Given the description of an element on the screen output the (x, y) to click on. 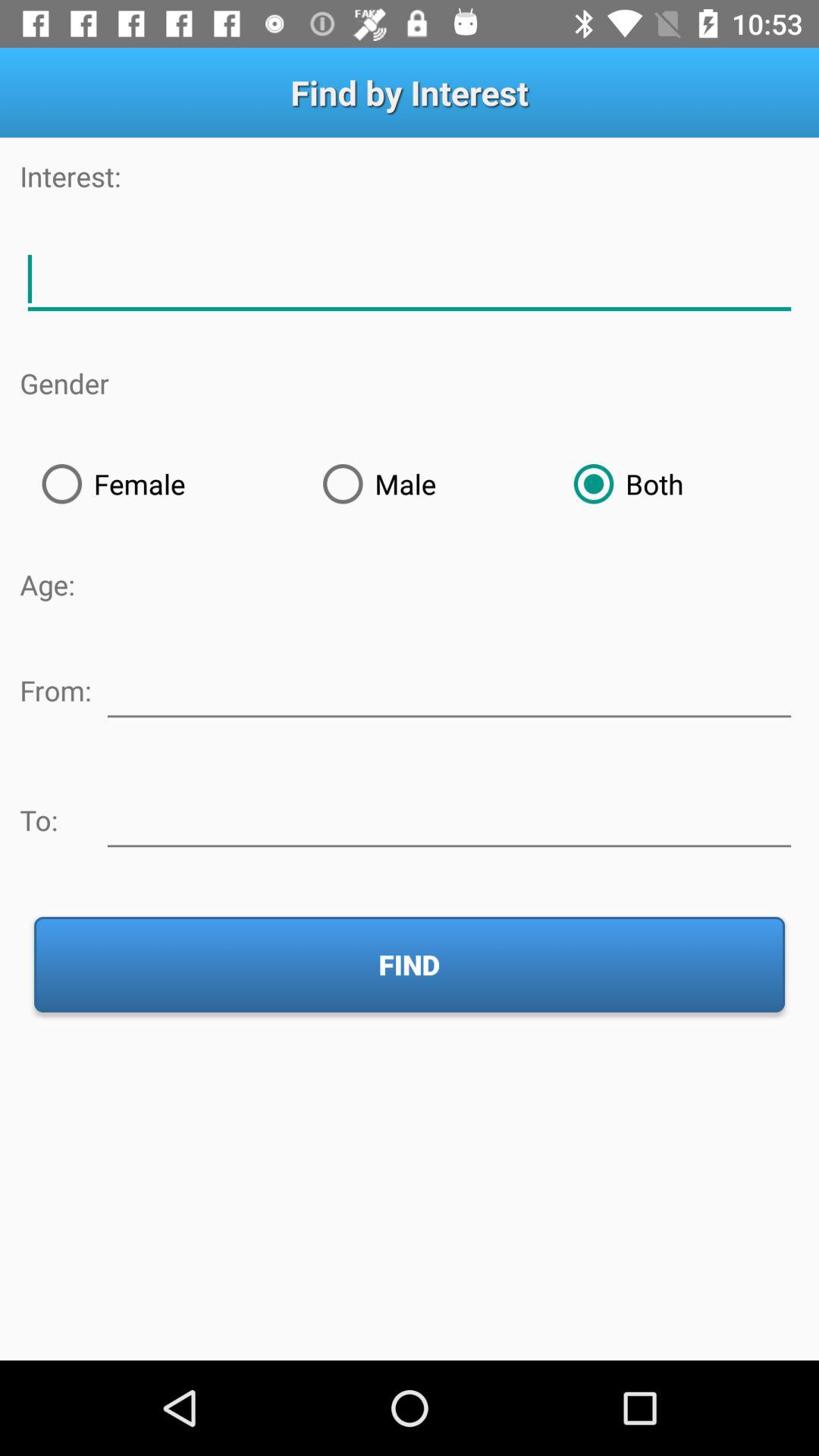
write the location from which you are from (449, 688)
